Given the description of an element on the screen output the (x, y) to click on. 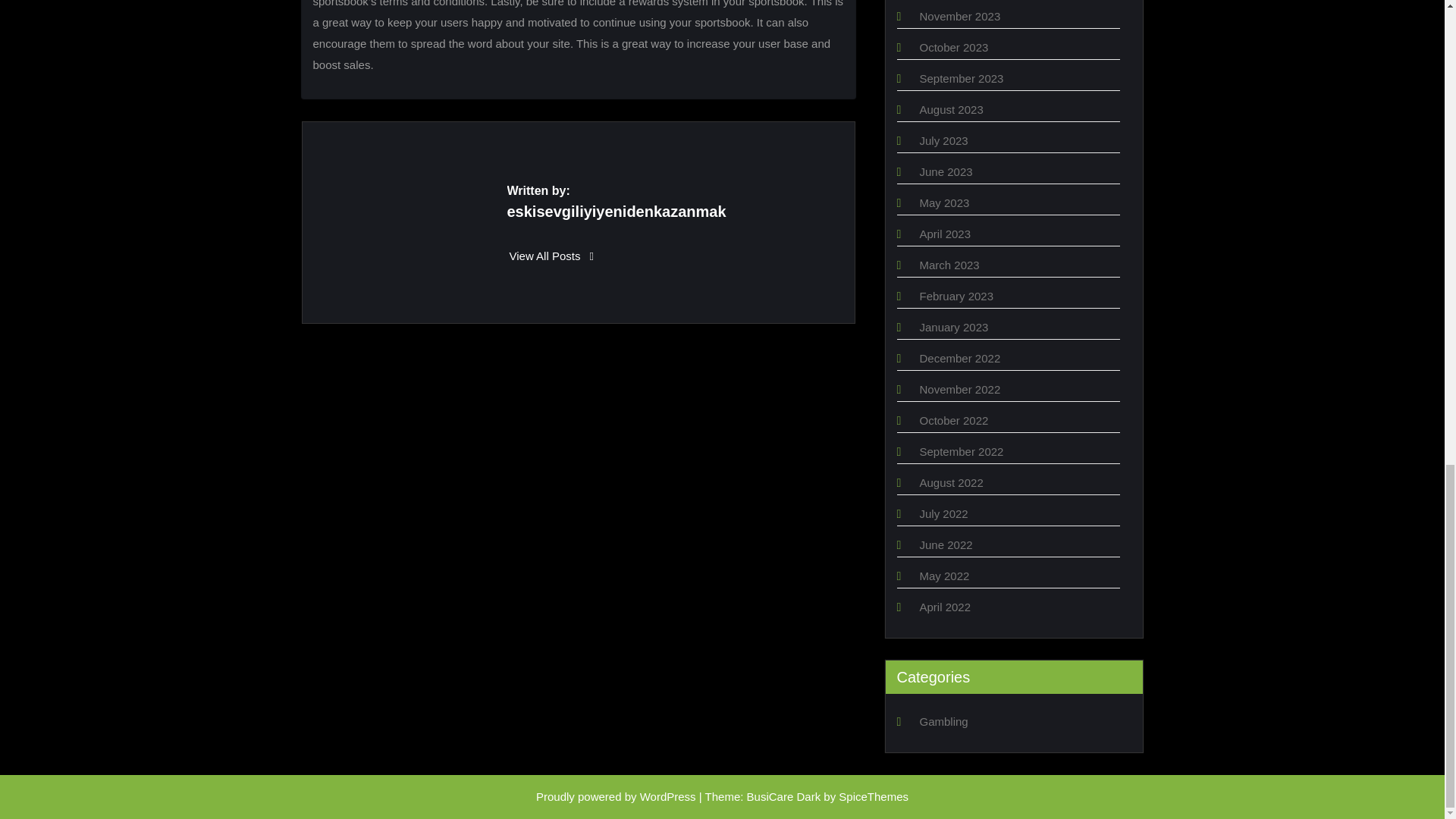
View All Posts (551, 255)
September 2023 (960, 78)
September 2022 (960, 451)
June 2022 (945, 544)
October 2023 (953, 47)
November 2023 (959, 15)
August 2022 (950, 481)
May 2023 (943, 202)
May 2022 (943, 575)
January 2023 (953, 327)
